Given the description of an element on the screen output the (x, y) to click on. 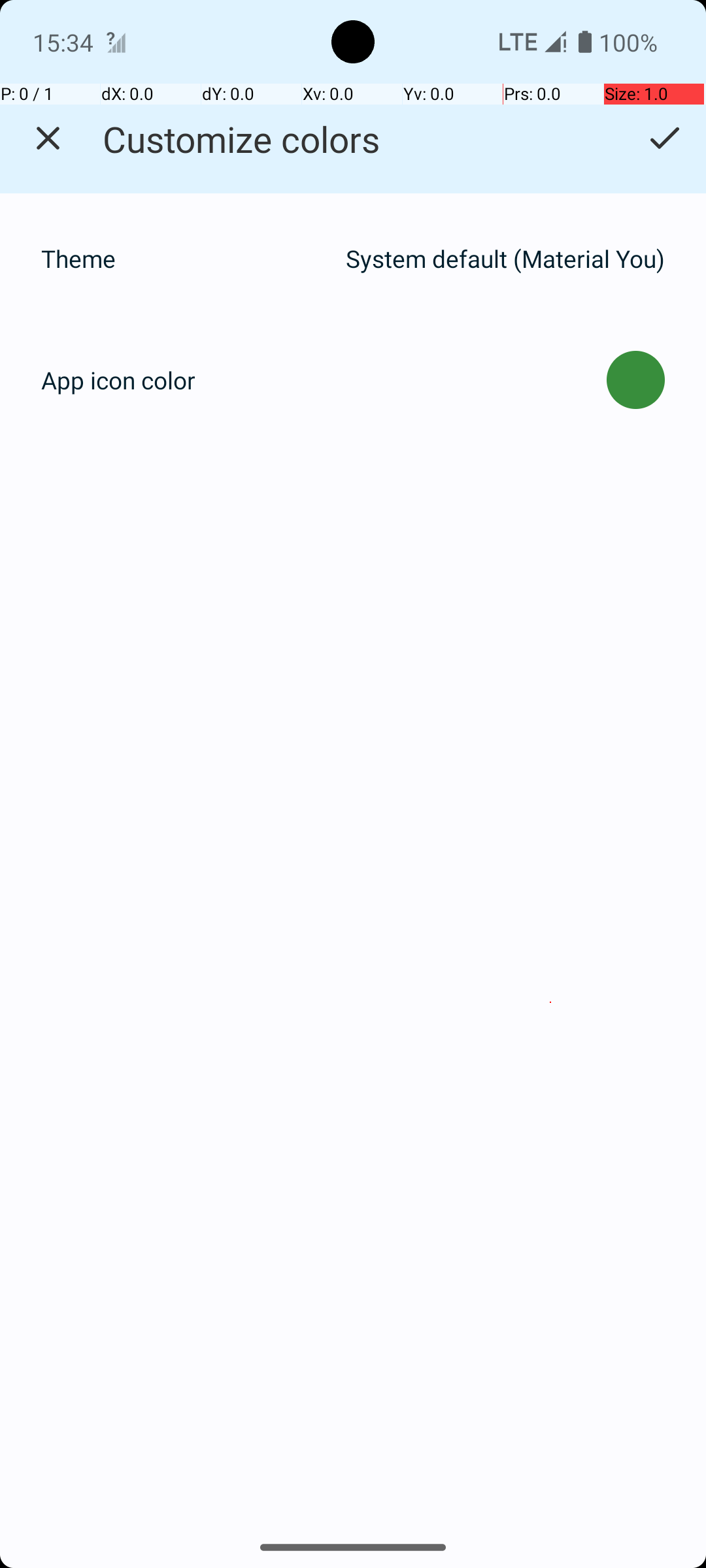
System default (Material You) Element type: android.widget.TextView (504, 258)
App icon color Element type: android.widget.TextView (118, 379)
